Given the description of an element on the screen output the (x, y) to click on. 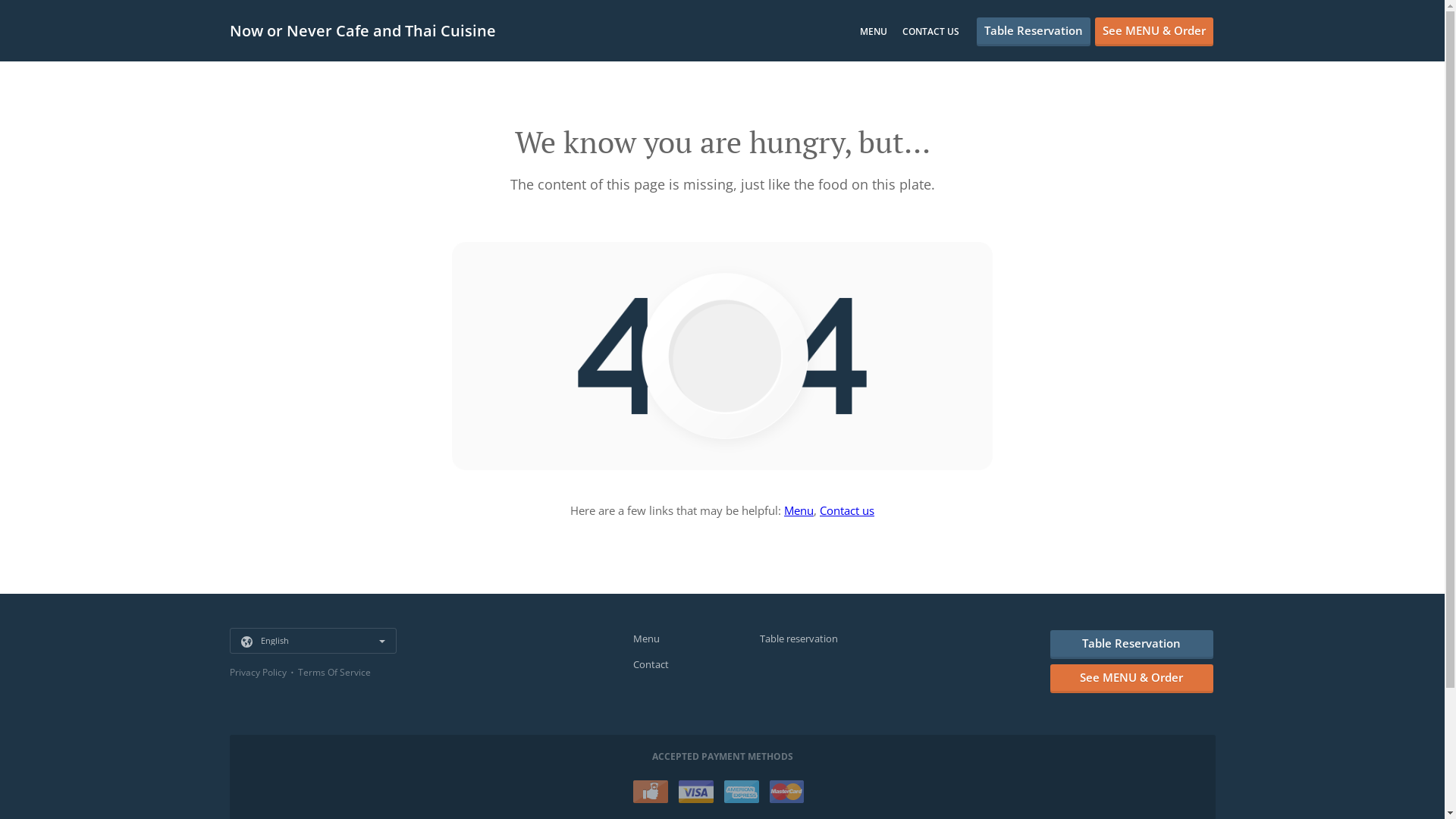
Privacy Policy Element type: text (257, 671)
Contact us Element type: text (846, 509)
Table reservation Element type: text (798, 638)
Now or Never Cafe and Thai Cuisine Element type: text (369, 30)
Menu Element type: text (798, 509)
Menu Element type: text (645, 638)
Terms Of Service Element type: text (333, 671)
CONTACT US Element type: text (930, 31)
MENU Element type: text (873, 31)
Contact Element type: text (650, 664)
